Given the description of an element on the screen output the (x, y) to click on. 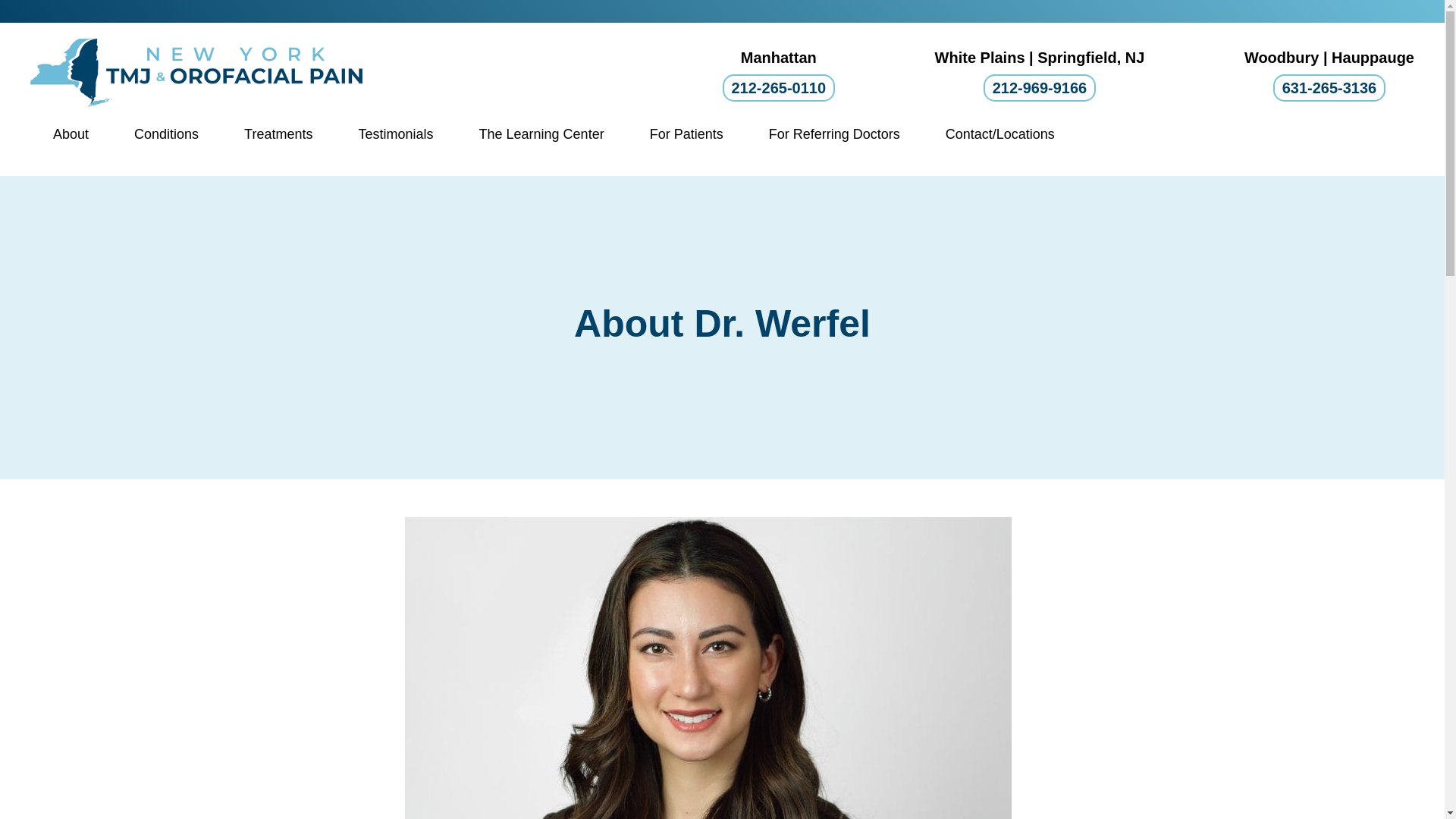
212-969-9166 (1040, 87)
About (71, 133)
Conditions (166, 133)
631-265-3136 (1329, 87)
For Patients (686, 133)
The Learning Center (542, 133)
212-265-0110 (778, 87)
Treatments (277, 133)
Testimonials (394, 133)
